Given the description of an element on the screen output the (x, y) to click on. 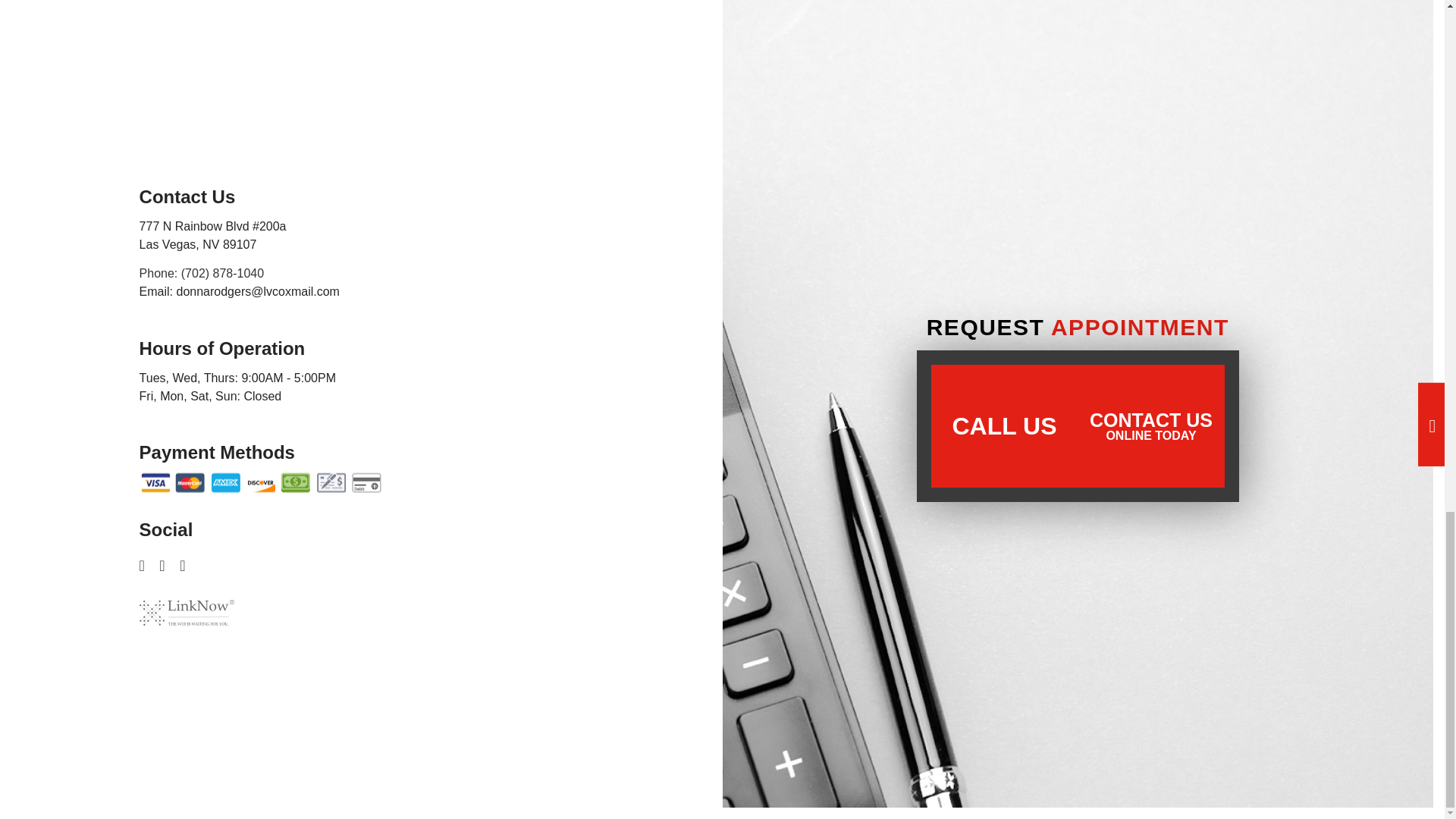
American Express (225, 483)
Discover (260, 483)
Mastercard (190, 483)
Cash (295, 483)
Debit Card (365, 483)
Visa (155, 483)
Check (331, 483)
Contact Rainbow Tax Service Inc today (1150, 426)
